Given the description of an element on the screen output the (x, y) to click on. 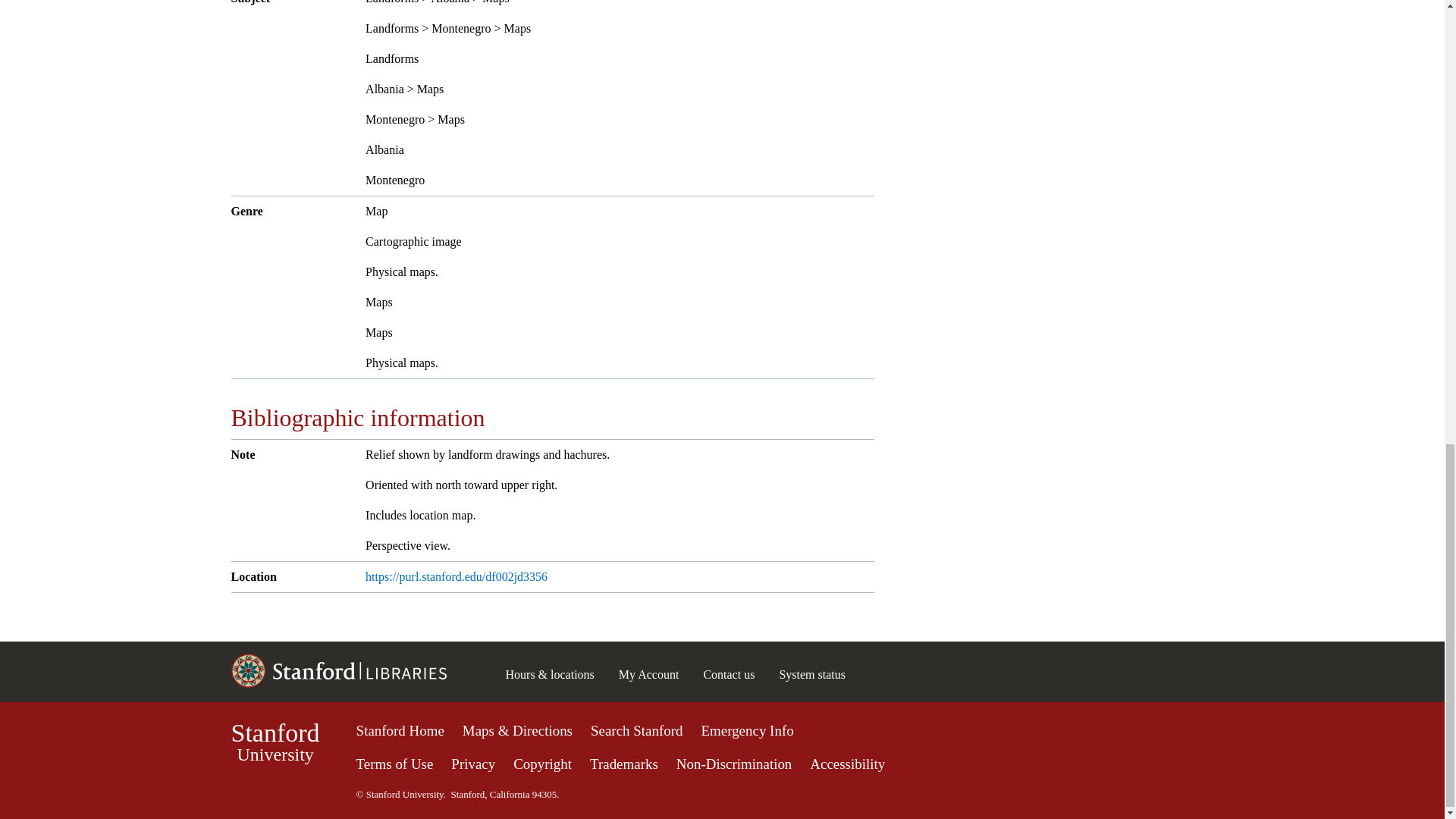
Privacy and cookie policy (473, 763)
My Account (274, 742)
Non-discrimination policy (648, 674)
Ownership and use of Stanford trademarks and images (734, 763)
Common Stanford resources (623, 763)
Report web accessibility issues (722, 761)
Report alleged copyright infringement (847, 763)
Terms of use for sites (542, 763)
Contact us (394, 763)
System status (728, 674)
